Given the description of an element on the screen output the (x, y) to click on. 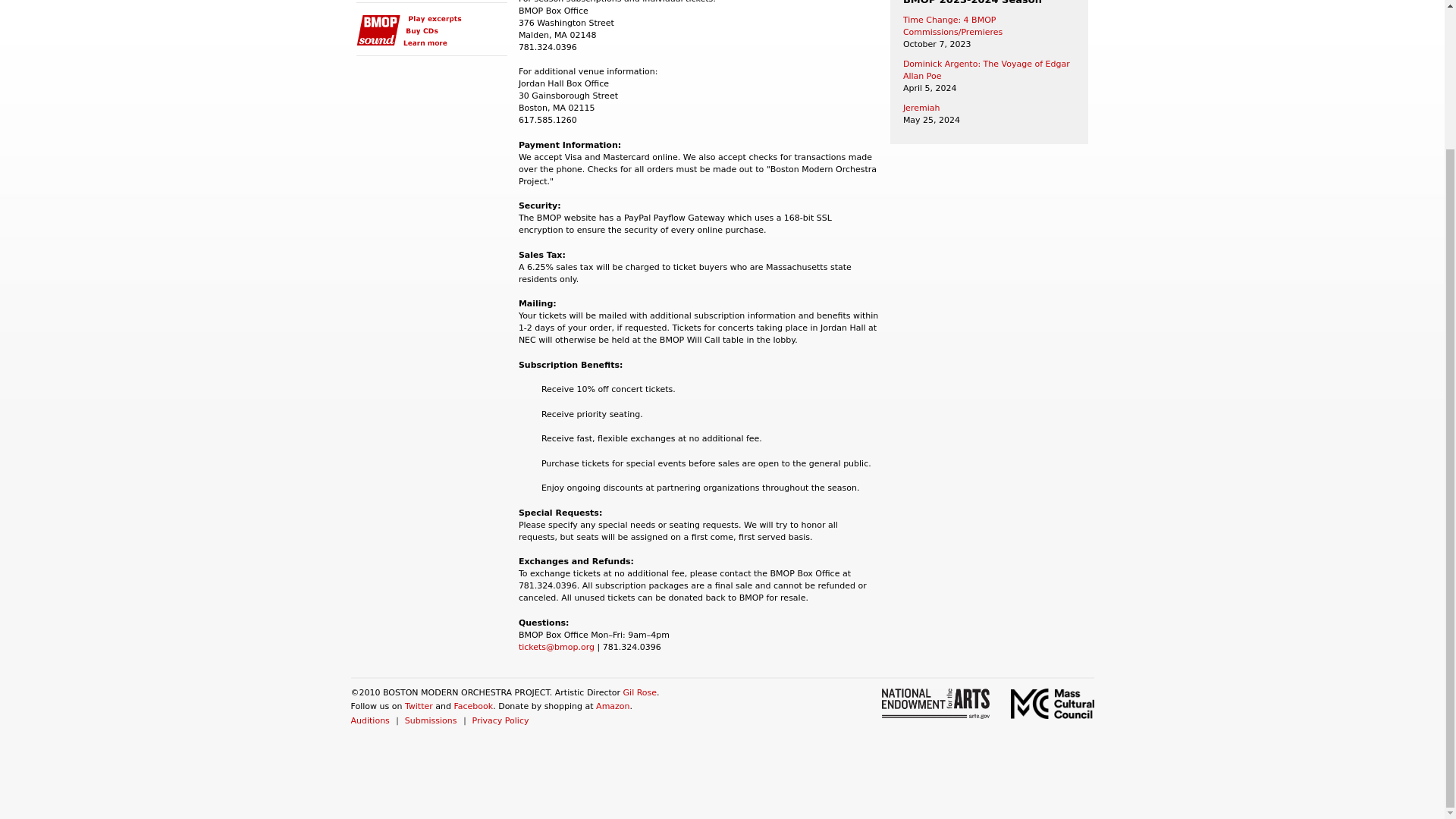
Privacy Policy (500, 720)
Dominick Argento: The Voyage of Edgar Allan Poe (986, 69)
Gil Rose (640, 692)
Amazon (611, 706)
Twitter (418, 706)
Jeremiah (921, 108)
Auditions (369, 720)
Facebook (472, 706)
Submissions (430, 720)
